Given the description of an element on the screen output the (x, y) to click on. 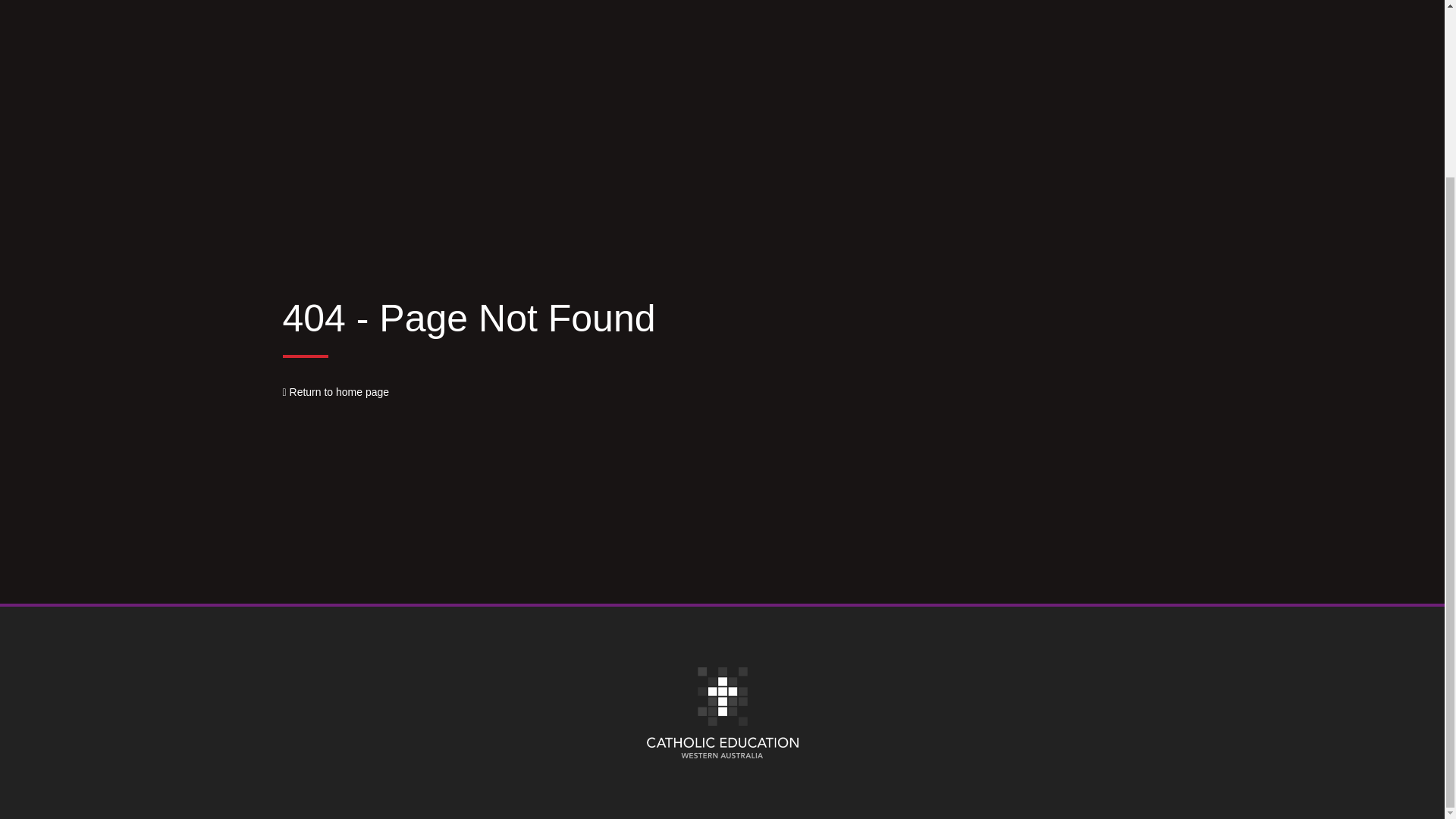
Return to home page (335, 391)
